Given the description of an element on the screen output the (x, y) to click on. 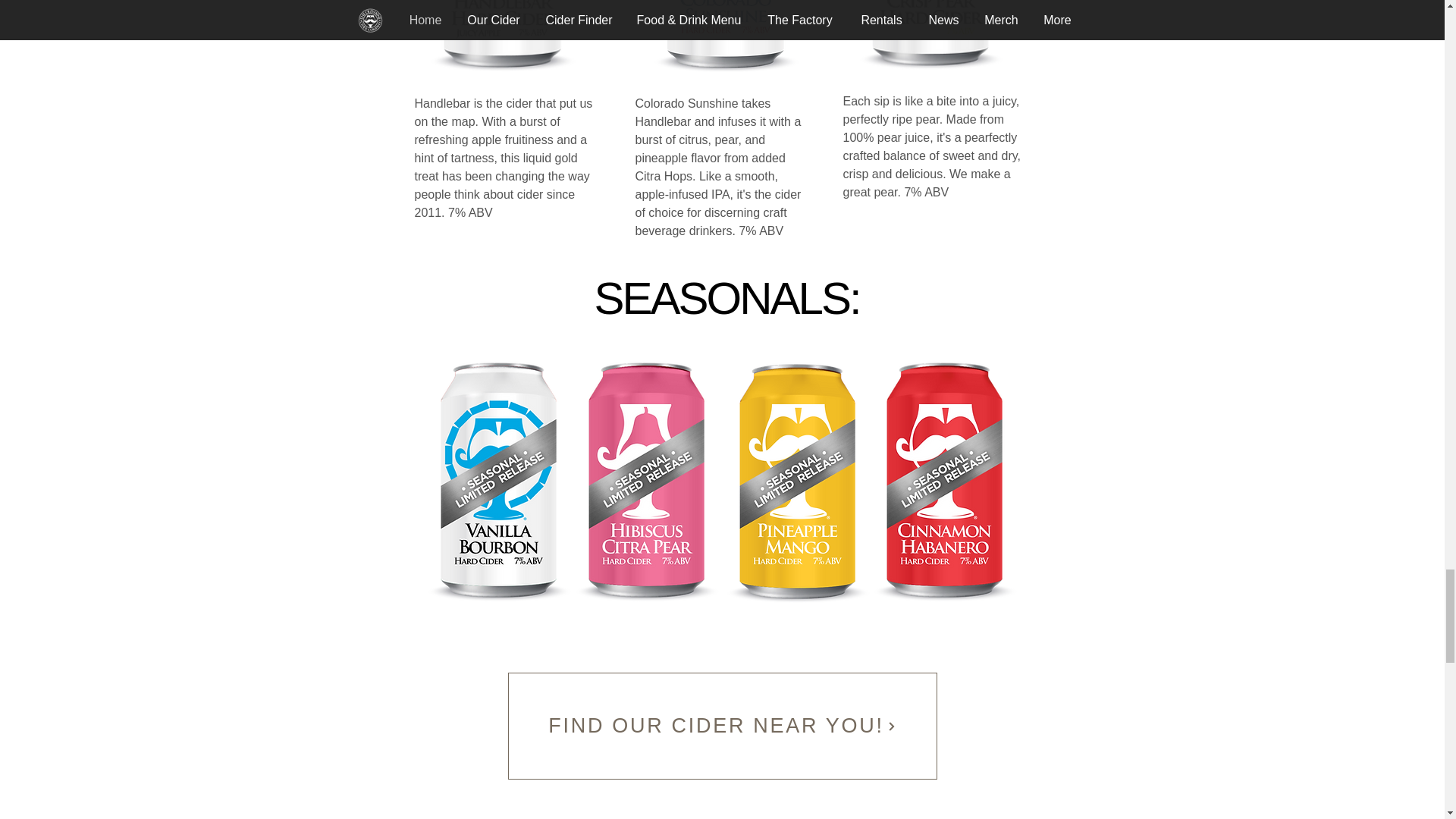
FIND OUR CIDER NEAR YOU! (722, 725)
